Given the description of an element on the screen output the (x, y) to click on. 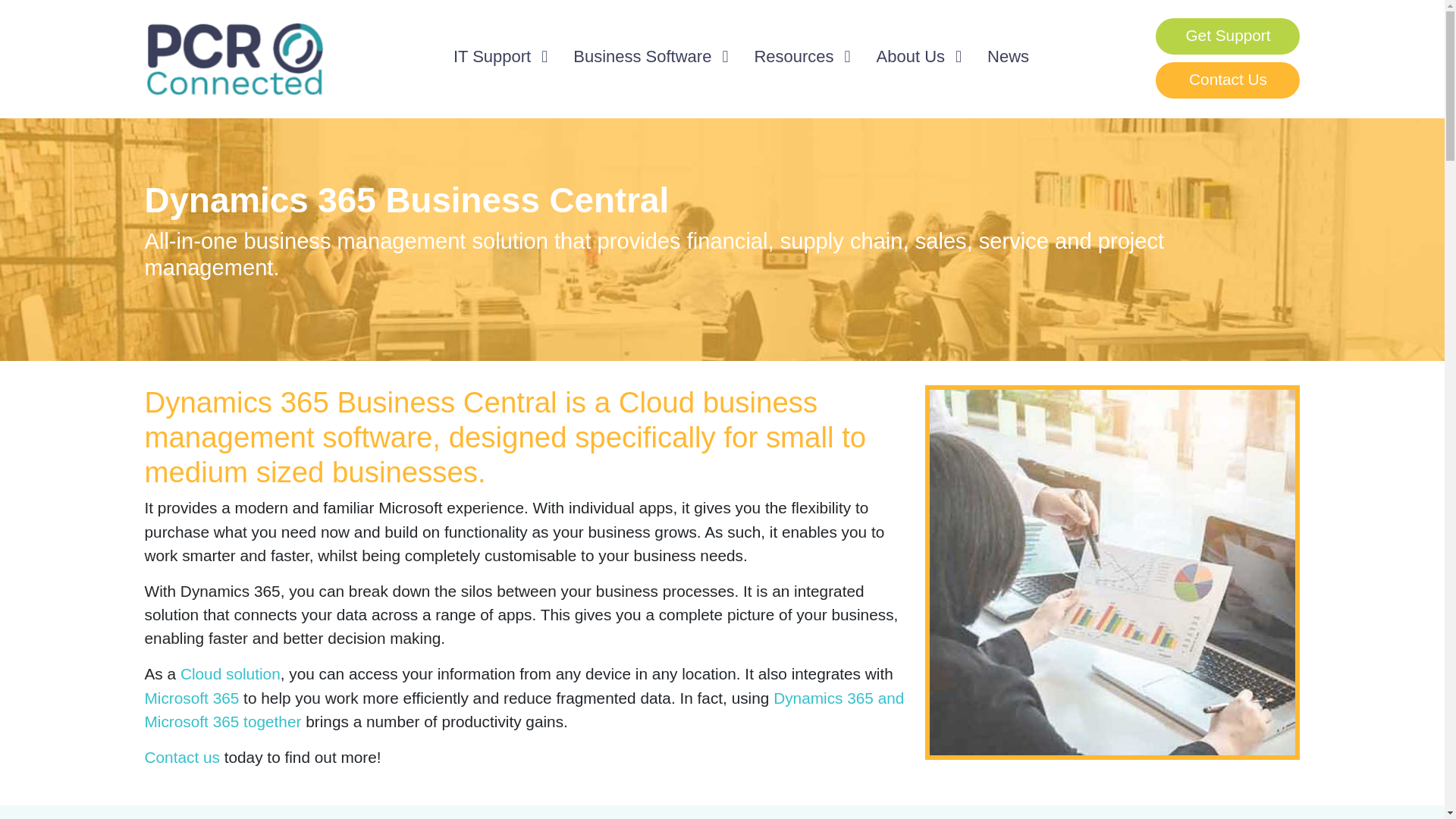
Contact Us (1228, 80)
News (1008, 56)
Business Software (649, 56)
Get IT Support (1228, 36)
IT Support (499, 56)
About Us (918, 56)
Resources (800, 56)
